Given the description of an element on the screen output the (x, y) to click on. 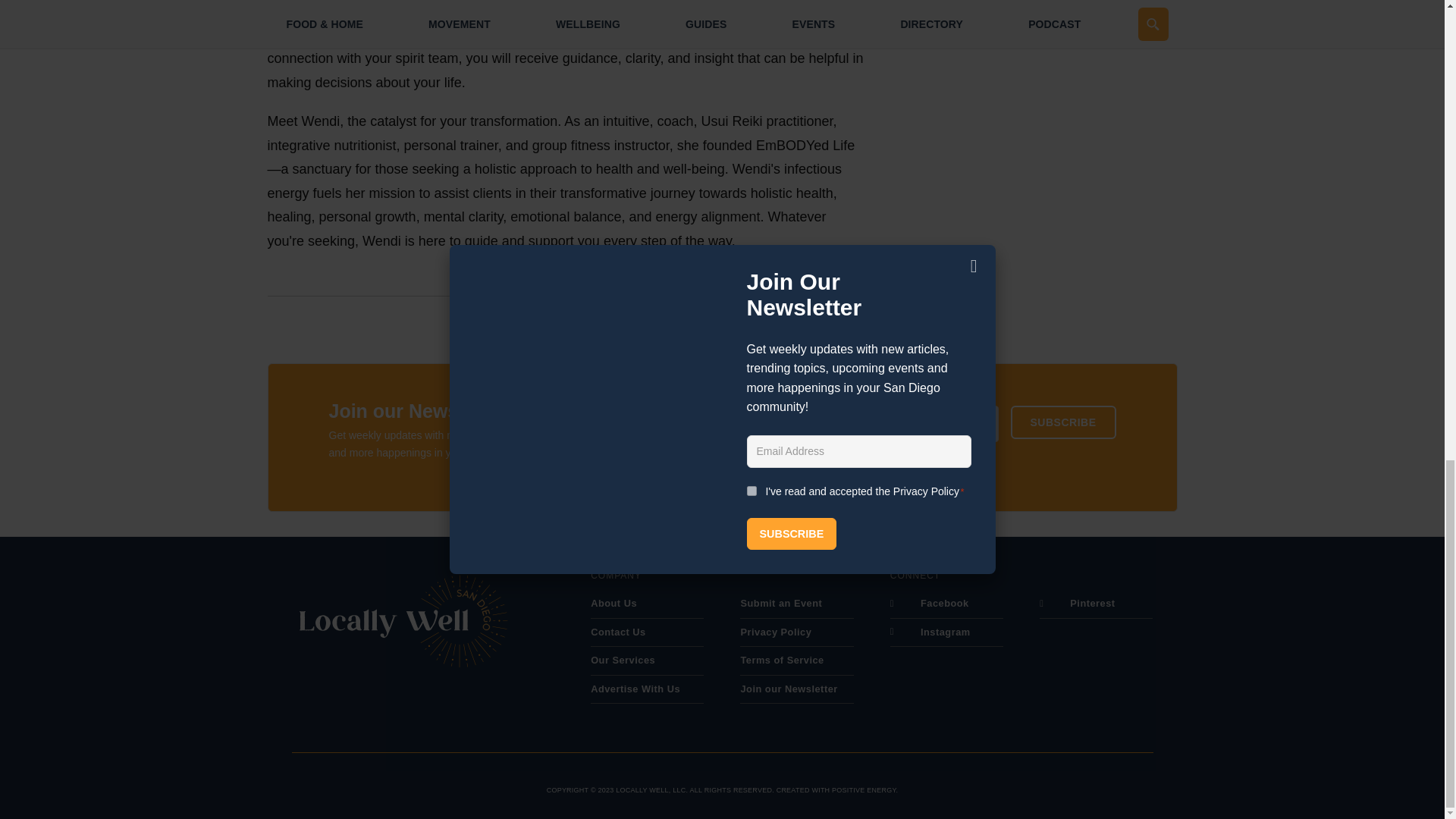
1 (734, 463)
